Given the description of an element on the screen output the (x, y) to click on. 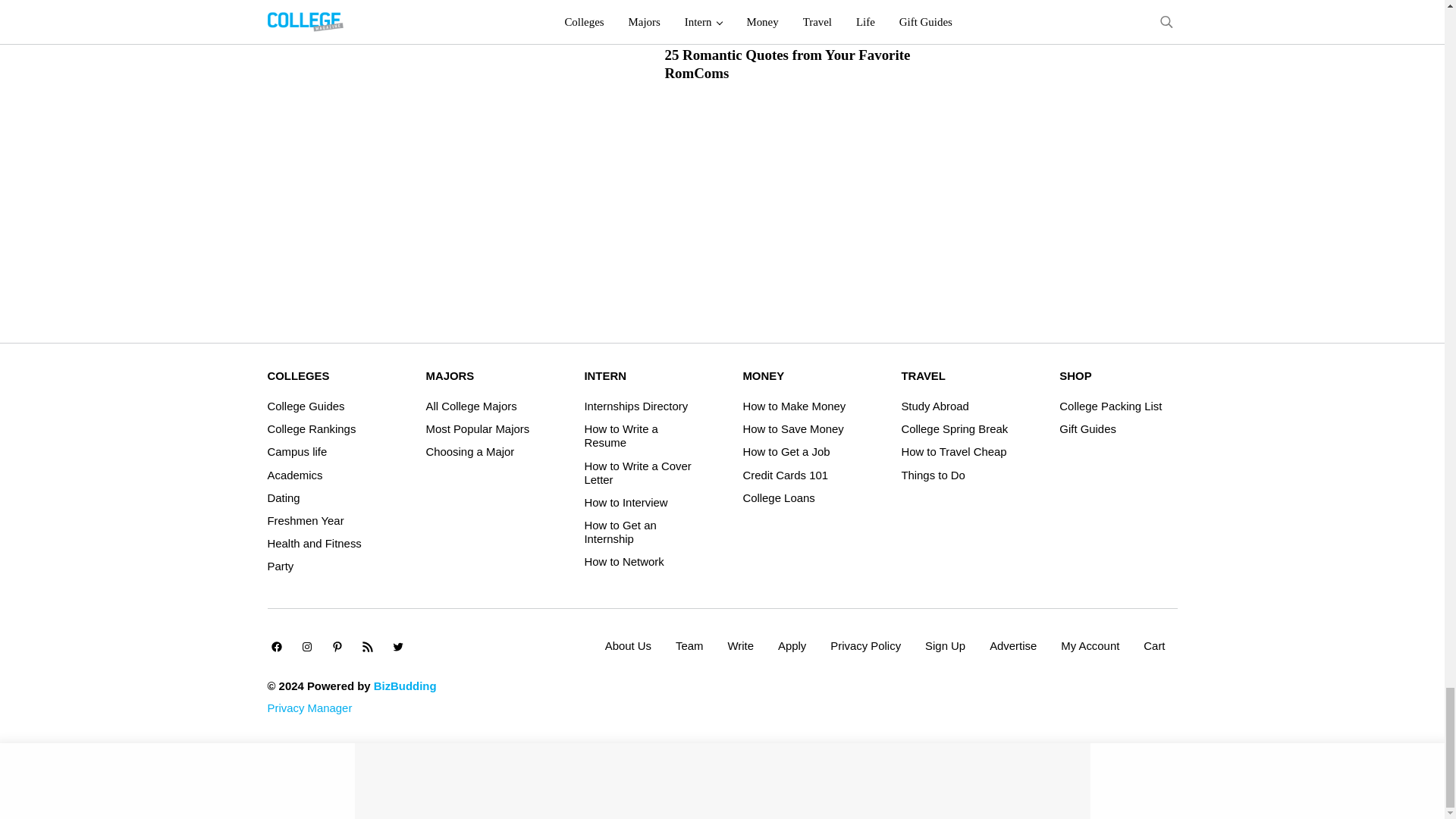
Academics (293, 475)
College Rankings (310, 428)
25 Romantic Quotes from Your Favorite RomComs (806, 63)
Campus life (296, 451)
College Guides (304, 405)
